Given the description of an element on the screen output the (x, y) to click on. 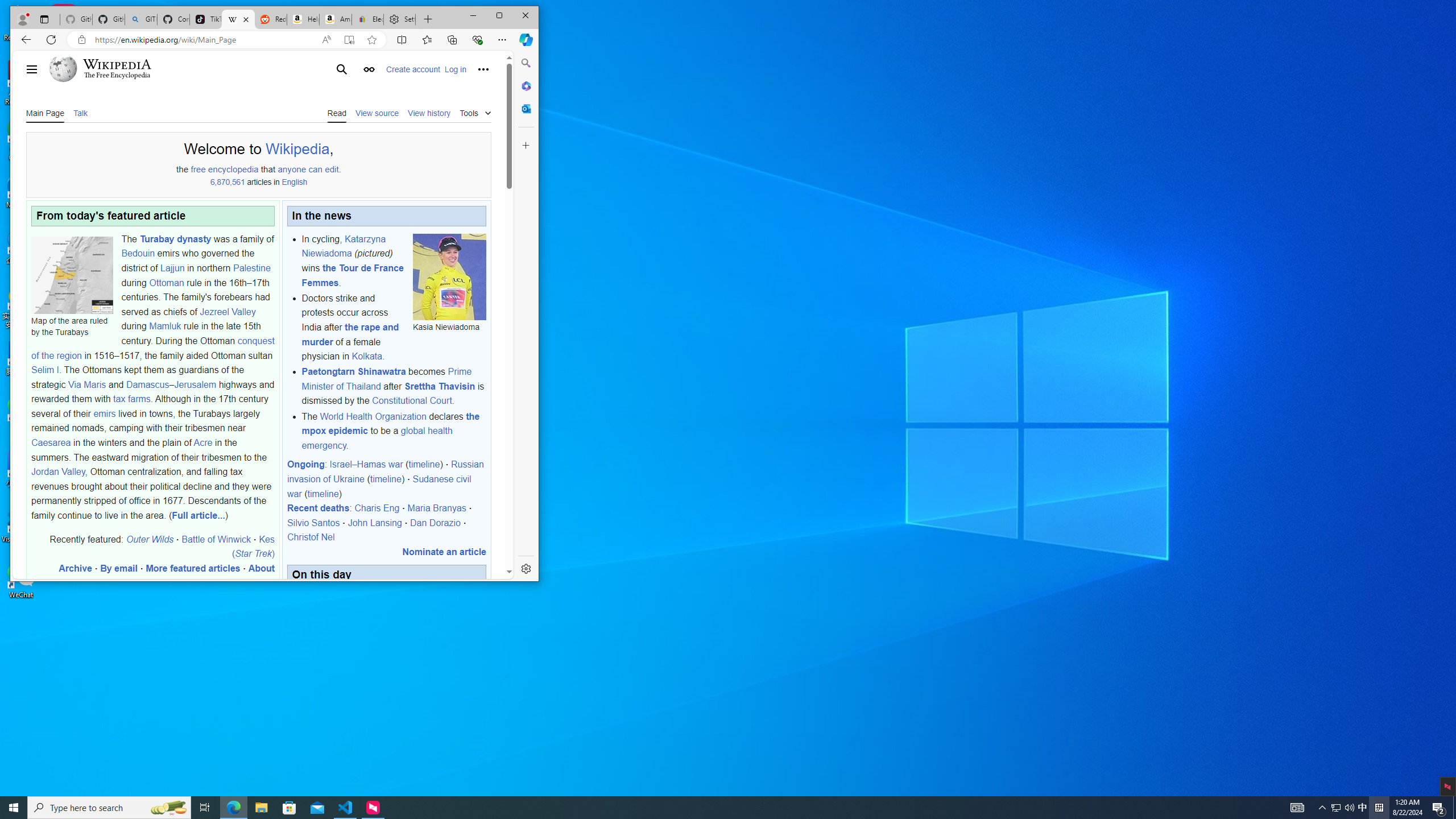
Help & Contact Us - Amazon Customer Service (303, 19)
Kolkata (365, 356)
global health emergency (376, 437)
Tray Input Indicator - Chinese (Simplified, China) (1378, 807)
Appearance (368, 68)
GITHUB - Search (140, 19)
Via Maris (86, 384)
timeline (323, 493)
Microsoft Edge - 1 running window (233, 807)
Bedouin (137, 253)
Map of the area ruled by the Turabays (71, 274)
